Given the description of an element on the screen output the (x, y) to click on. 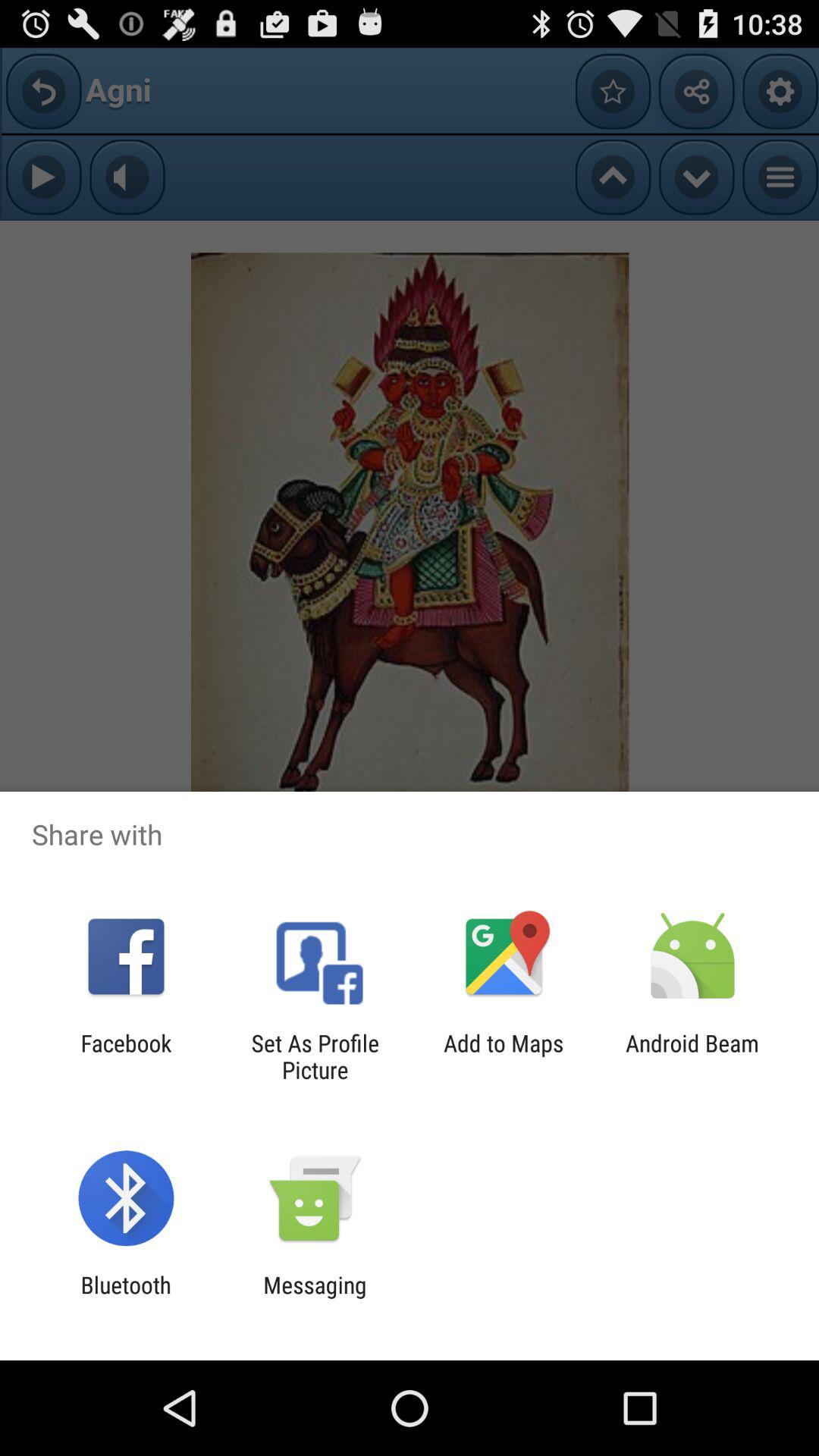
scroll to android beam icon (692, 1056)
